Given the description of an element on the screen output the (x, y) to click on. 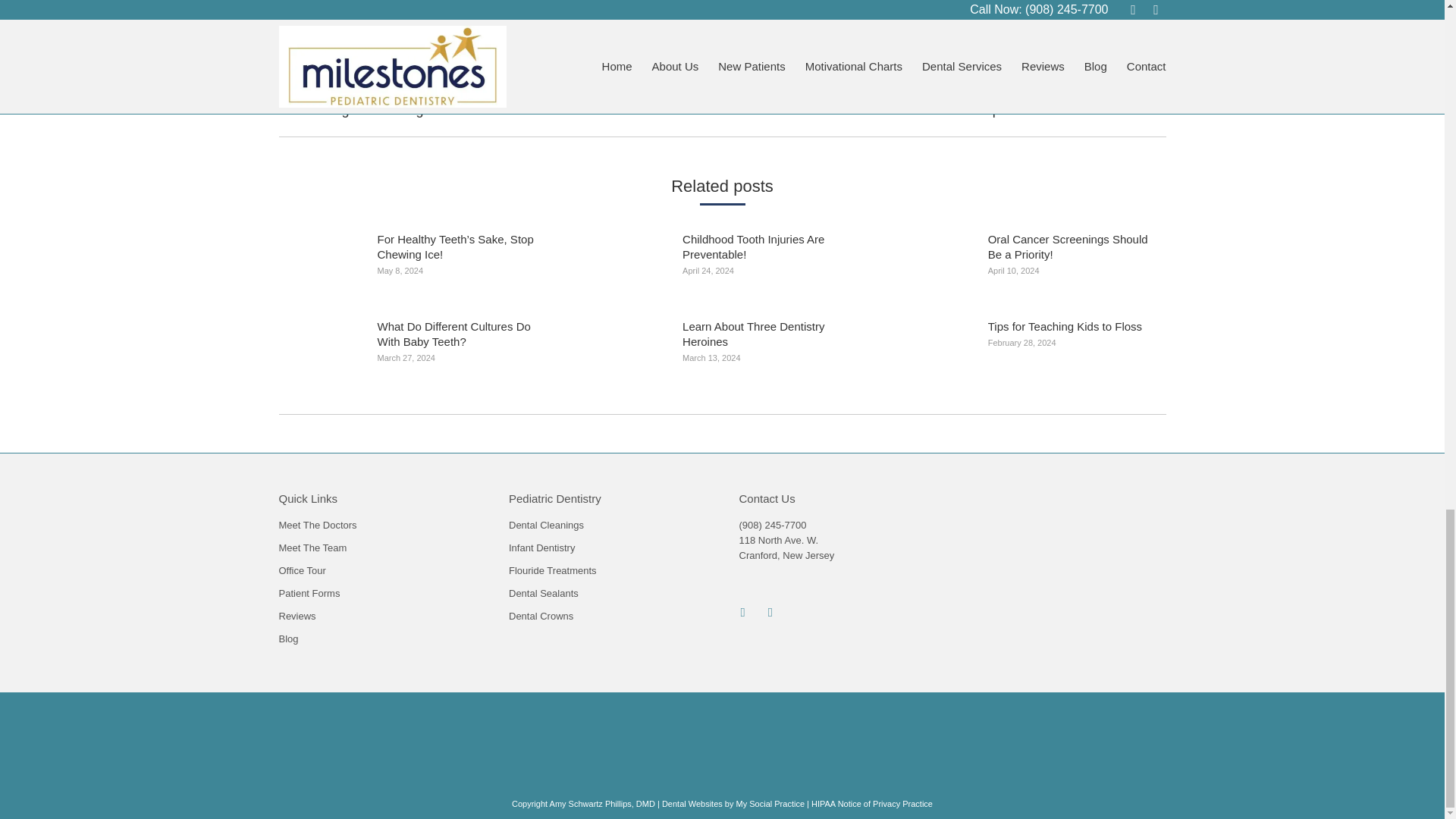
8:49 am (925, 14)
